Given the description of an element on the screen output the (x, y) to click on. 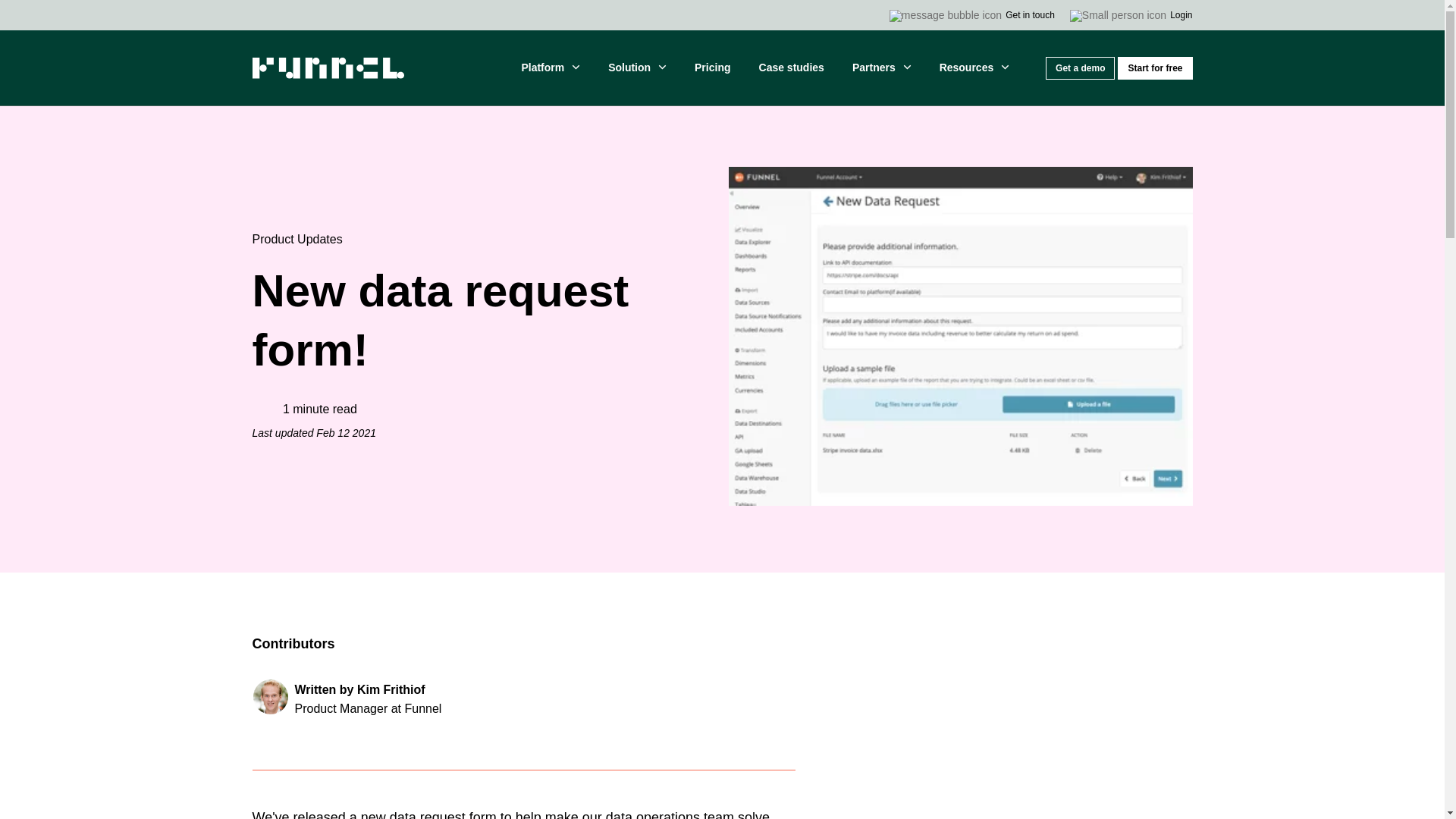
Get in touch (972, 15)
Pricing (712, 68)
Get a demo (1080, 67)
Login (1130, 15)
Case studies (790, 68)
Funnel logo (327, 67)
Start for free (1155, 67)
